Given the description of an element on the screen output the (x, y) to click on. 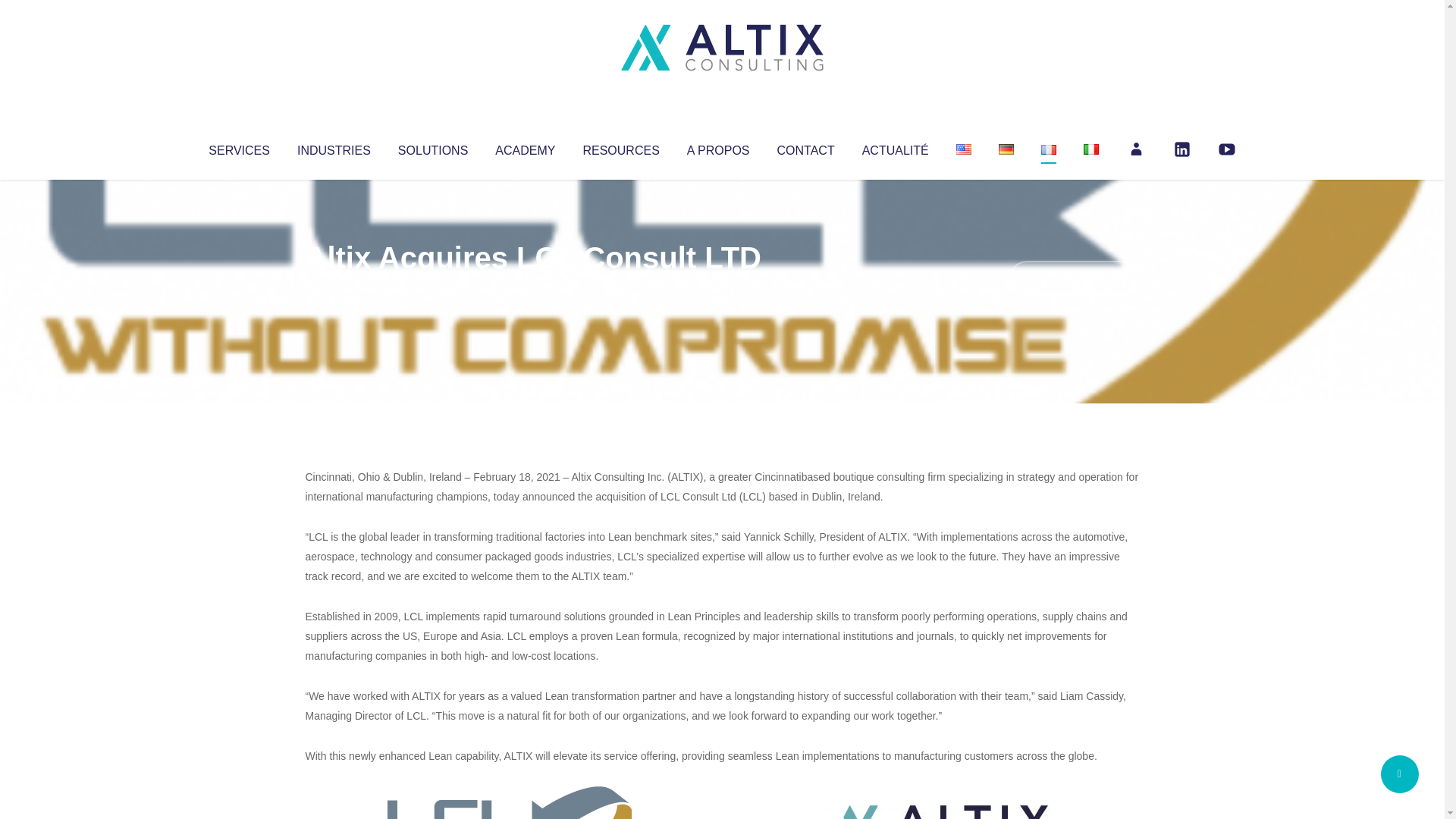
Altix (333, 287)
SOLUTIONS (432, 146)
Articles par Altix (333, 287)
ACADEMY (524, 146)
A PROPOS (718, 146)
No Comments (1073, 278)
INDUSTRIES (334, 146)
SERVICES (238, 146)
Uncategorized (530, 287)
RESOURCES (620, 146)
